Given the description of an element on the screen output the (x, y) to click on. 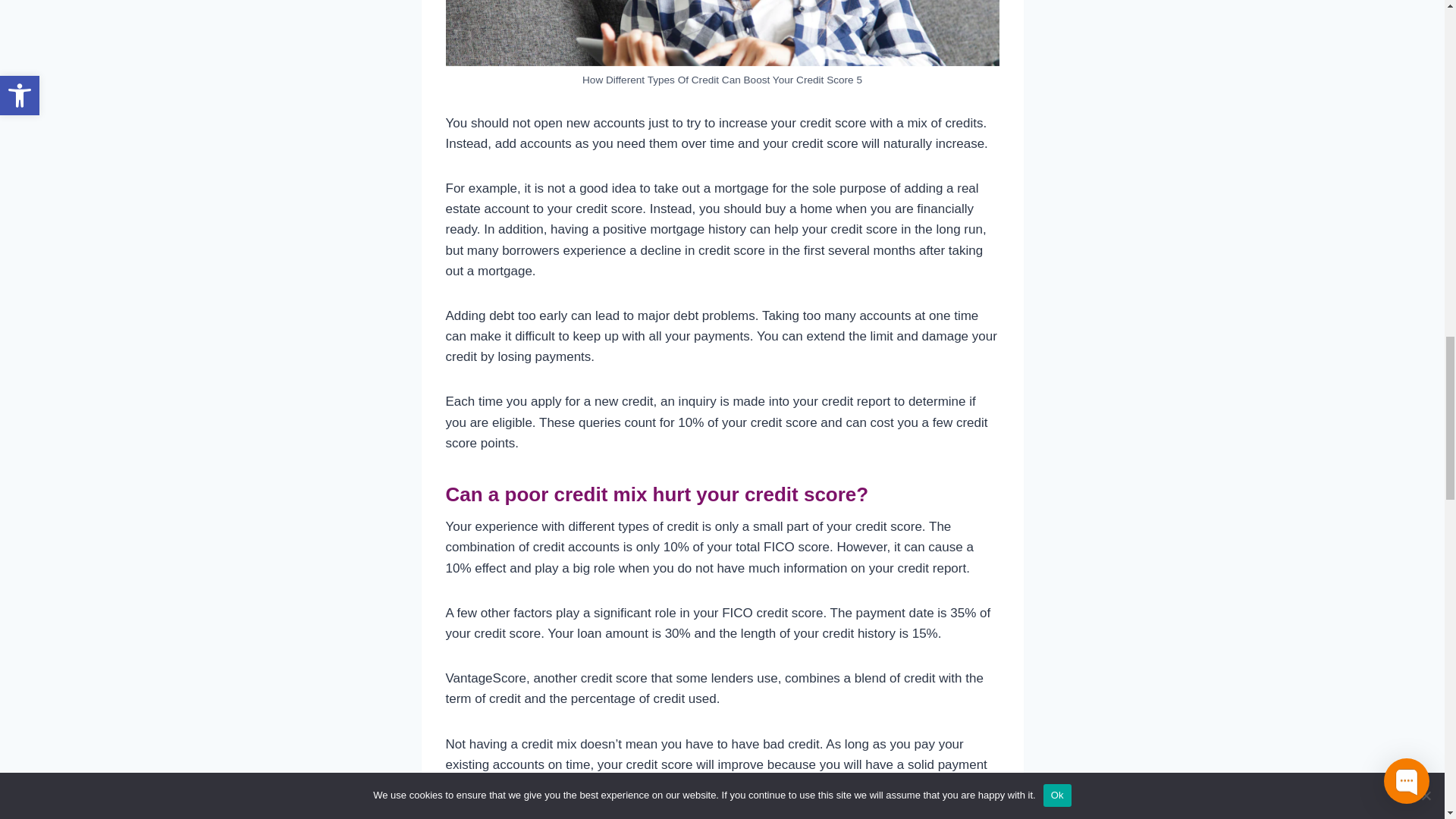
How Different Types Of Credit Can Boost Your Credit Score 3 (721, 33)
